Given the description of an element on the screen output the (x, y) to click on. 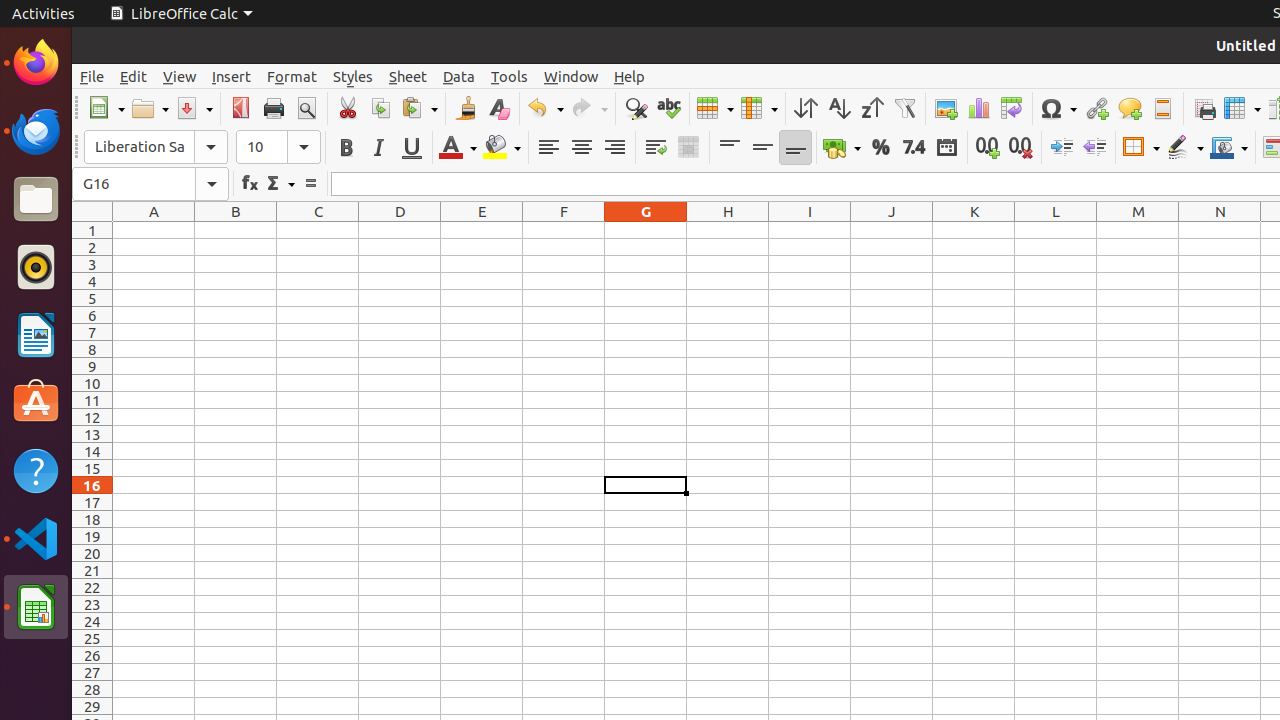
Function Wizard Element type: push-button (249, 183)
Headers and Footers Element type: push-button (1162, 108)
Styles Element type: menu (353, 76)
Format Element type: menu (292, 76)
H1 Element type: table-cell (728, 230)
